Given the description of an element on the screen output the (x, y) to click on. 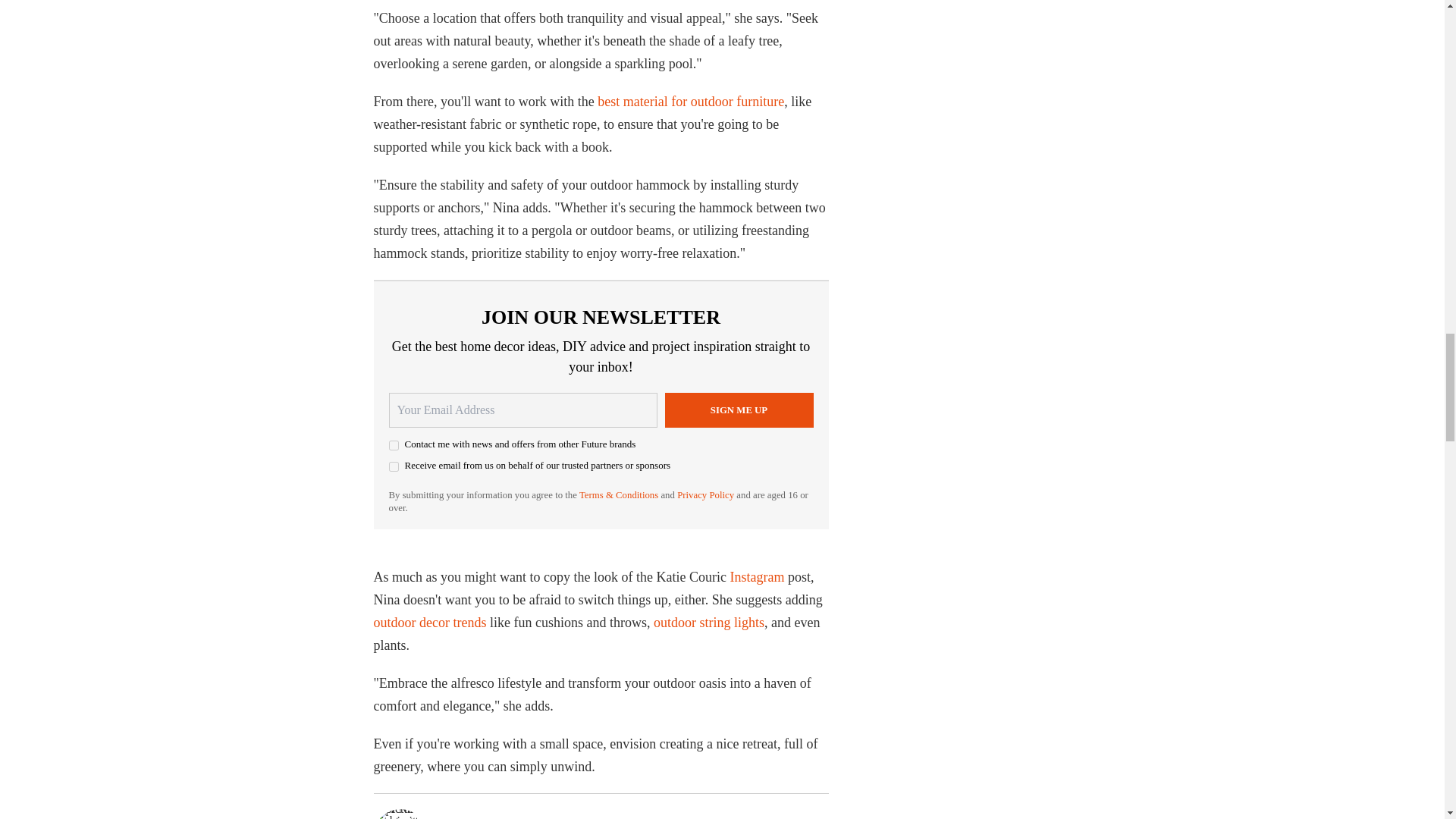
on (392, 445)
on (392, 466)
Sign me up (737, 410)
